Given the description of an element on the screen output the (x, y) to click on. 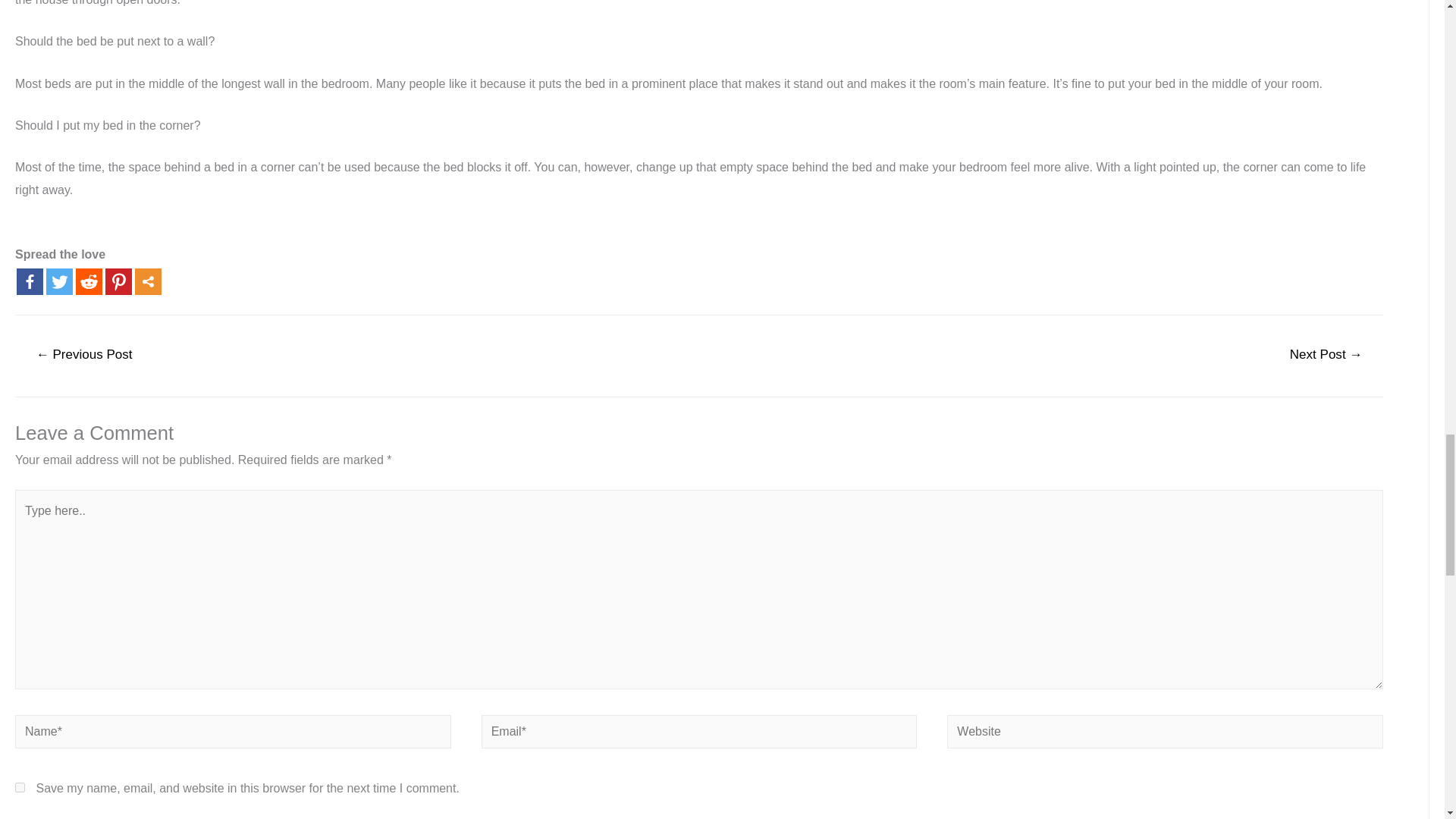
Twitter (59, 281)
yes (19, 787)
Facebook (29, 281)
More (148, 281)
Pinterest (118, 281)
Reddit (88, 281)
